Given the description of an element on the screen output the (x, y) to click on. 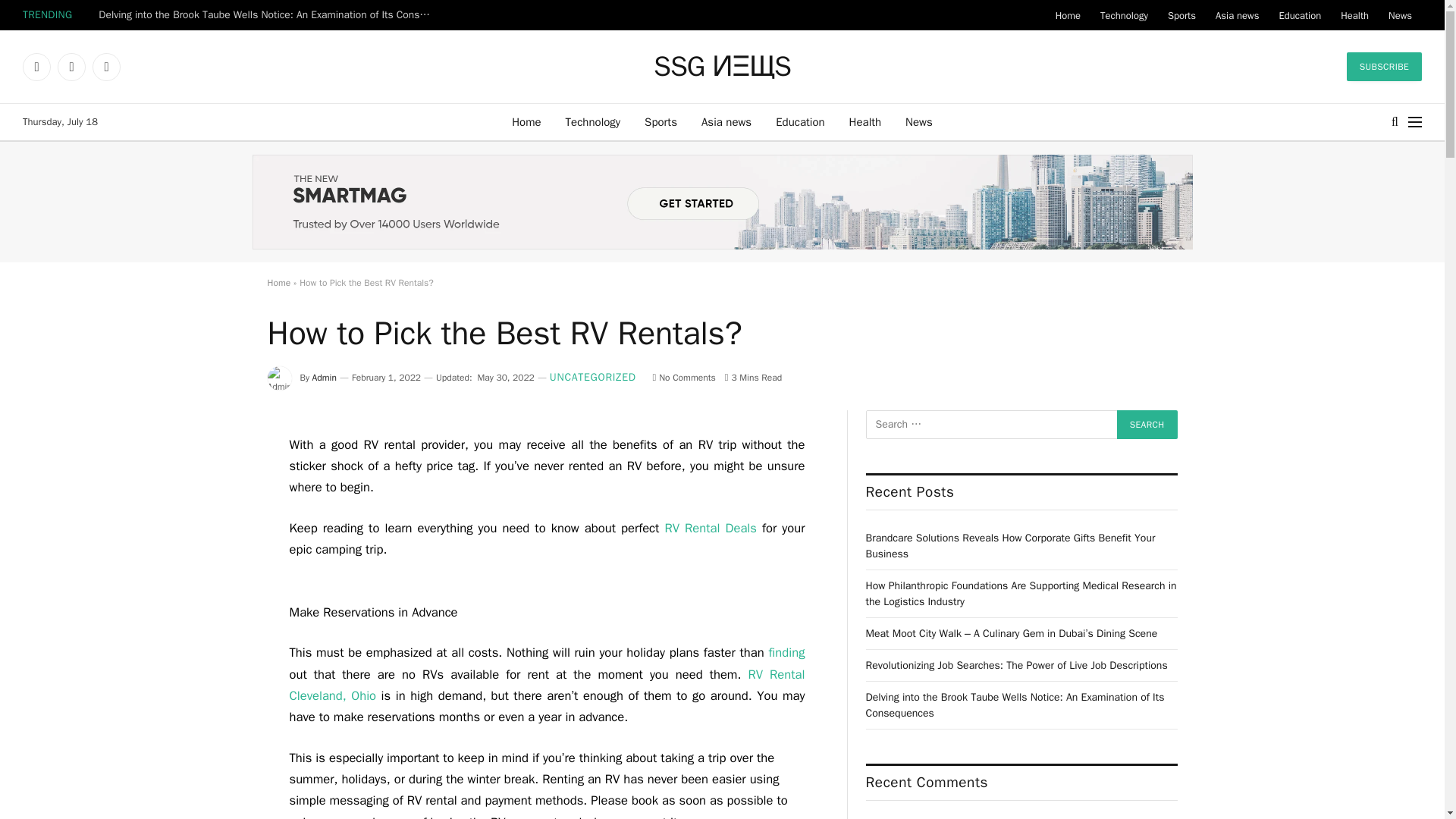
Search (1146, 424)
Asia news (725, 122)
Home (526, 122)
Facebook (36, 67)
News (1400, 15)
Technology (1123, 15)
Education (1299, 15)
Sports (1181, 15)
Sports (659, 122)
SUBSCRIBE (1384, 66)
Search (1146, 424)
News (918, 122)
Health (865, 122)
Technology (593, 122)
